Given the description of an element on the screen output the (x, y) to click on. 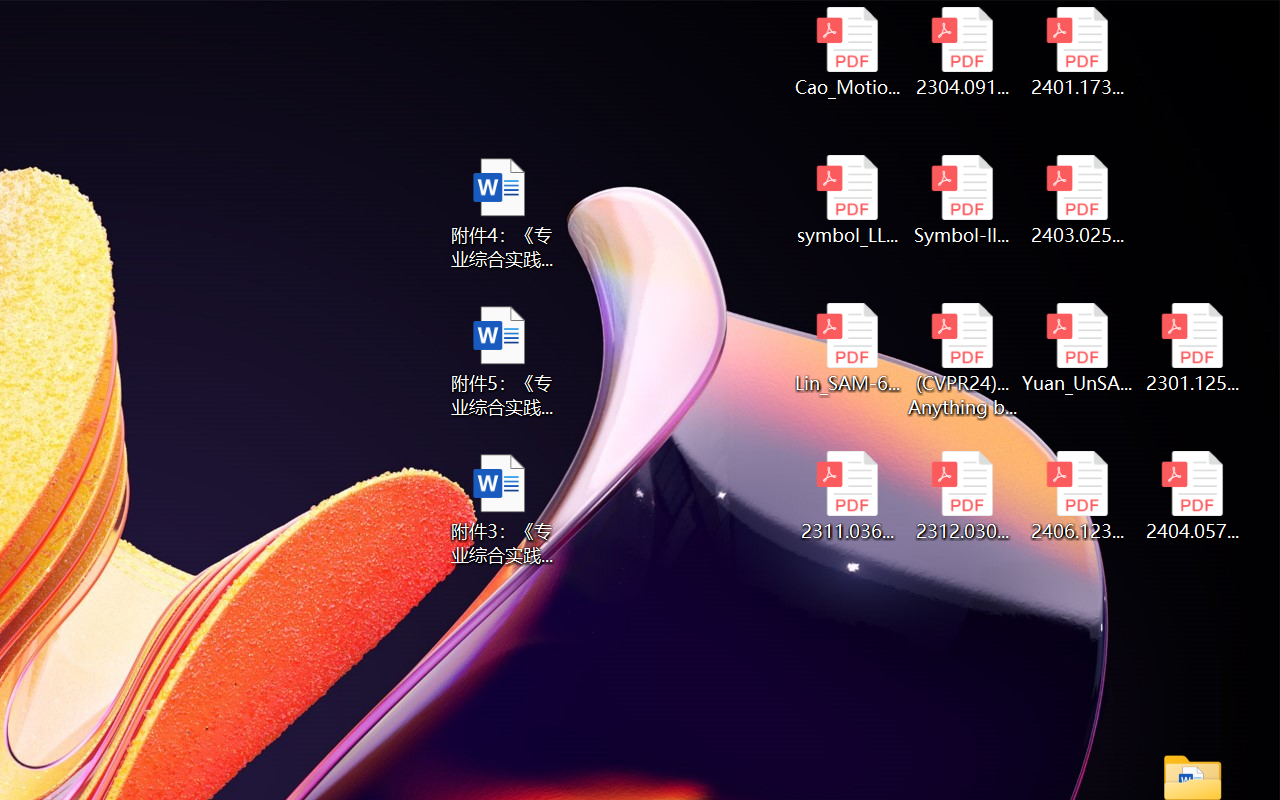
2404.05719v1.pdf (1192, 496)
symbol_LLM.pdf (846, 200)
2304.09121v3.pdf (962, 52)
2401.17399v1.pdf (1077, 52)
(CVPR24)Matching Anything by Segmenting Anything.pdf (962, 360)
2301.12597v3.pdf (1192, 348)
2311.03658v2.pdf (846, 496)
Symbol-llm-v2.pdf (962, 200)
2406.12373v2.pdf (1077, 496)
